Given the description of an element on the screen output the (x, y) to click on. 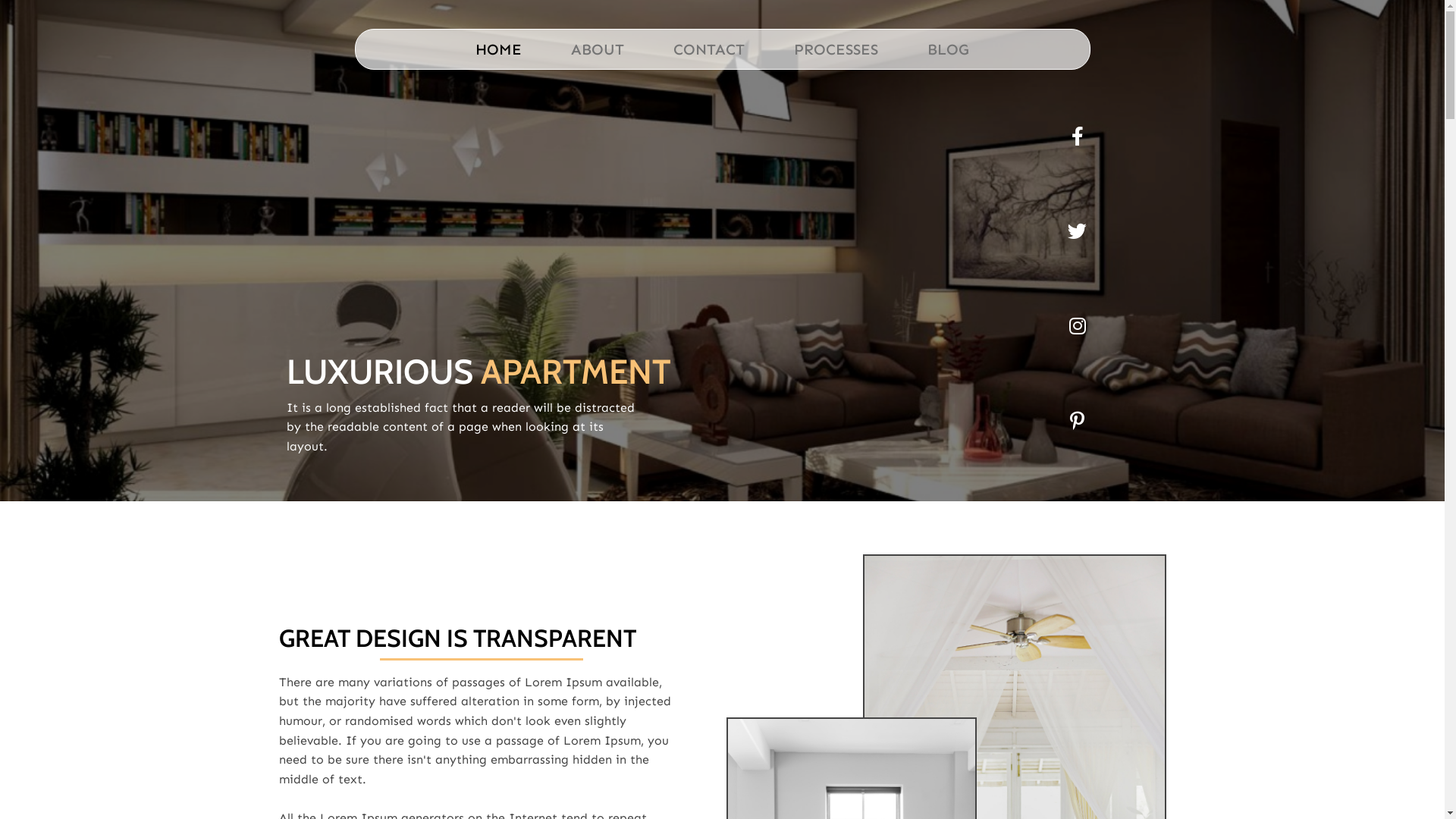
fab fa-pinterest-p Element type: hover (1076, 420)
CONTACT Element type: text (708, 49)
fab fa-instagram Element type: hover (1076, 325)
fab fa-twitter Element type: hover (1076, 230)
fab fa-facebook-f Element type: hover (1076, 135)
PROCESSES Element type: text (835, 49)
HOME Element type: text (498, 49)
BLOG Element type: text (947, 49)
ABOUT Element type: text (597, 49)
